Given the description of an element on the screen output the (x, y) to click on. 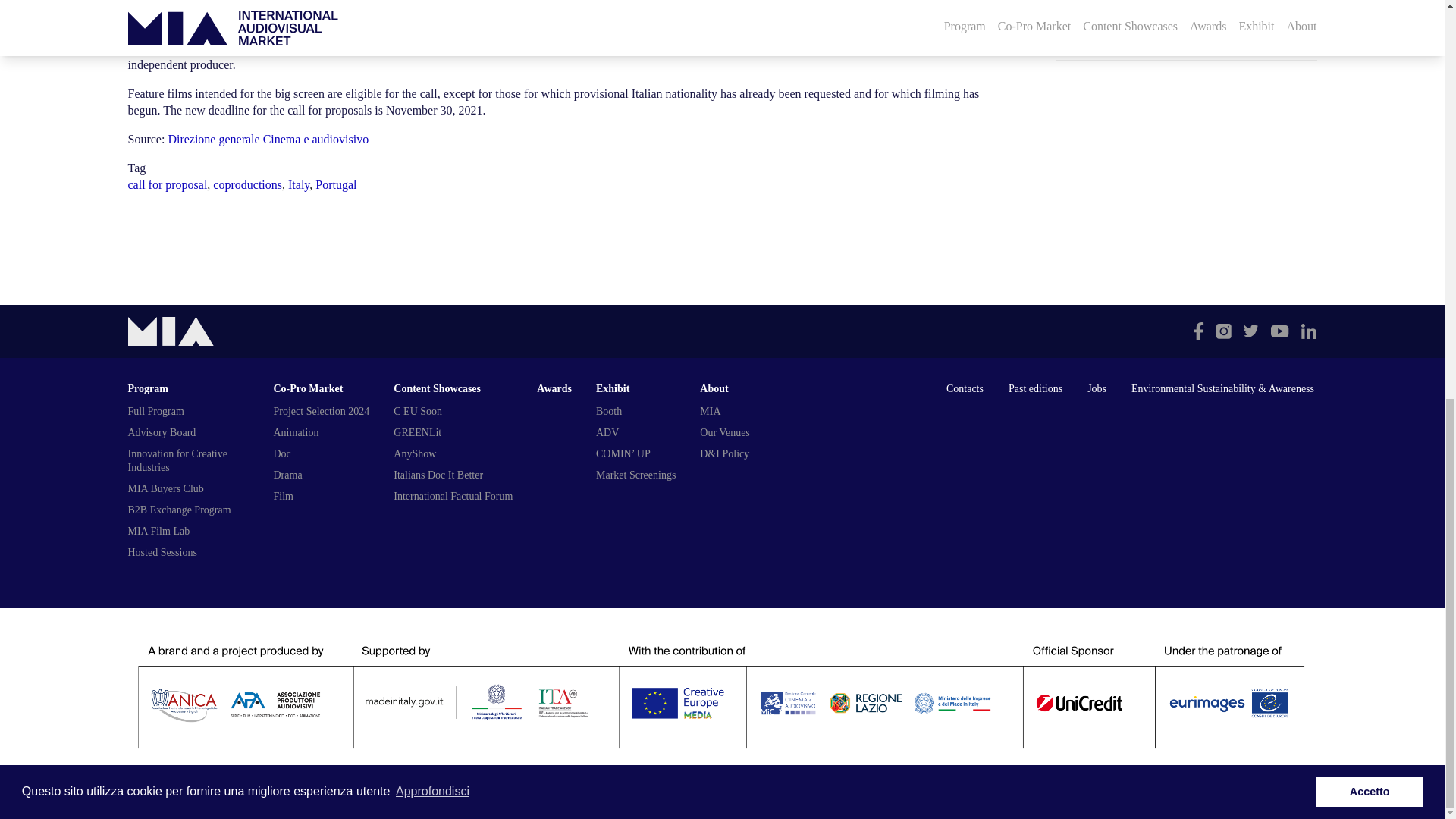
Approfondisci (432, 15)
Accetto (1369, 16)
